Given the description of an element on the screen output the (x, y) to click on. 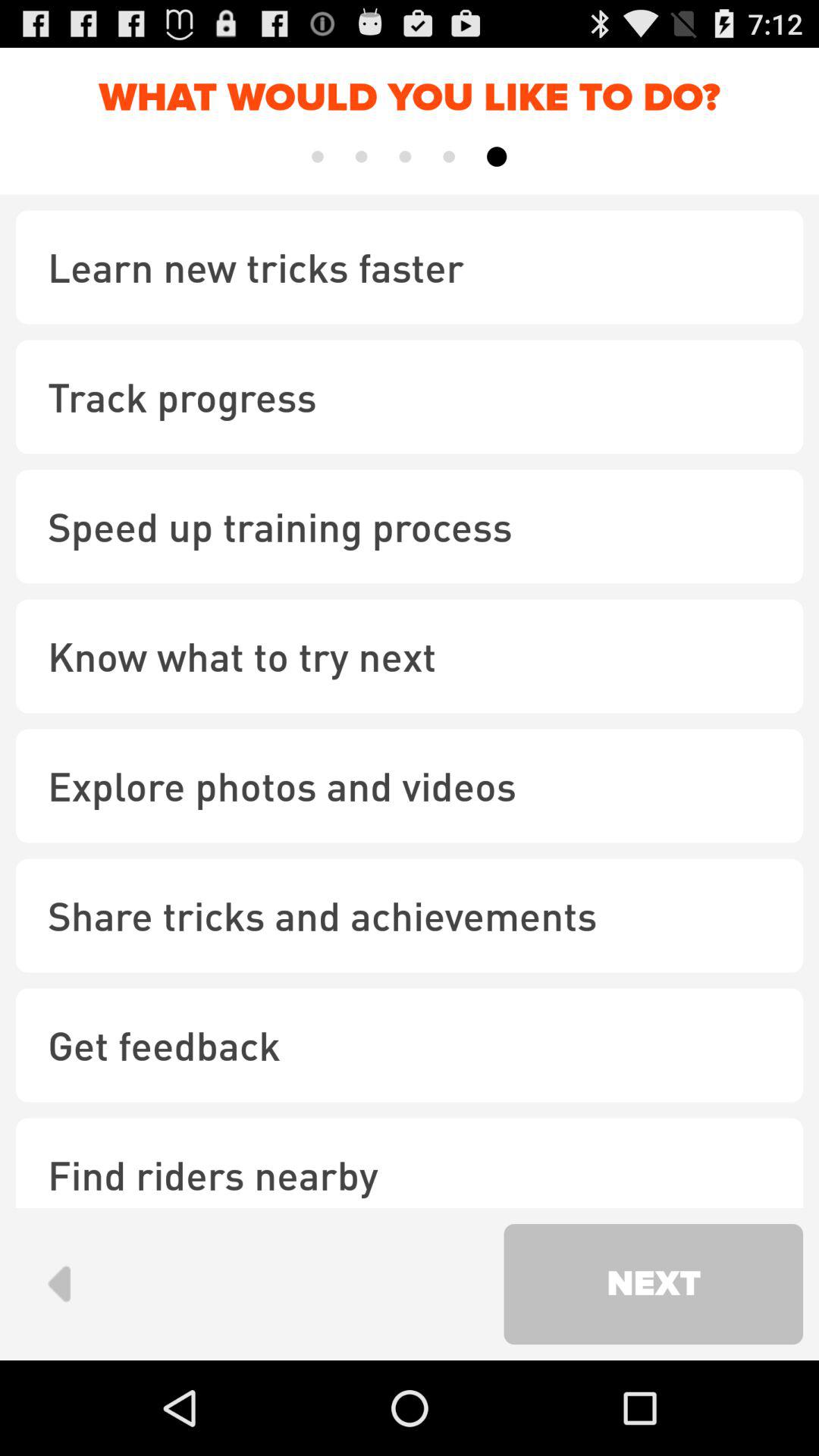
launch the speed up training icon (409, 526)
